Given the description of an element on the screen output the (x, y) to click on. 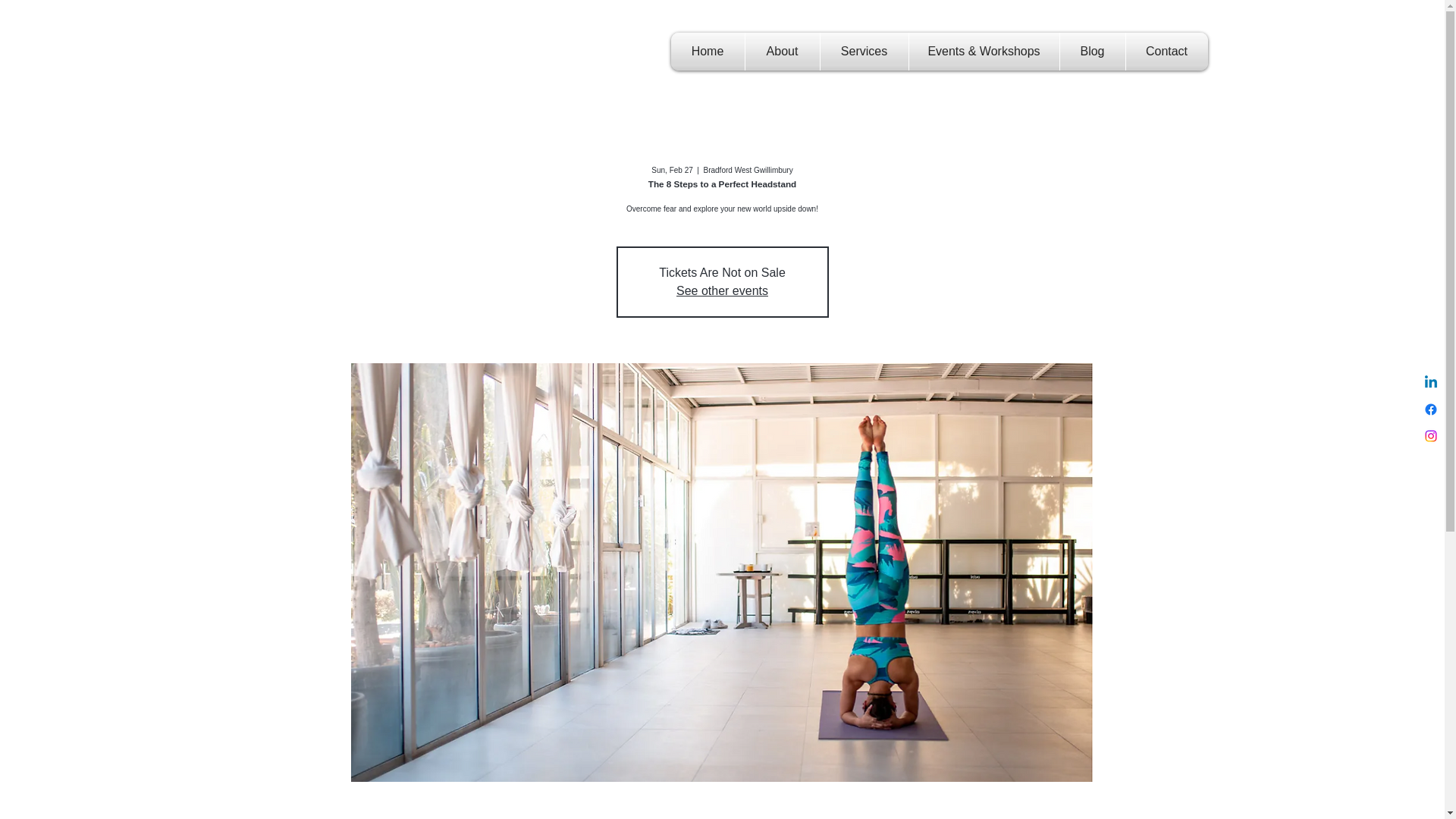
Home (706, 51)
See other events (722, 290)
Blog (1092, 51)
Contact (1166, 51)
Services (864, 51)
About (781, 51)
